Given the description of an element on the screen output the (x, y) to click on. 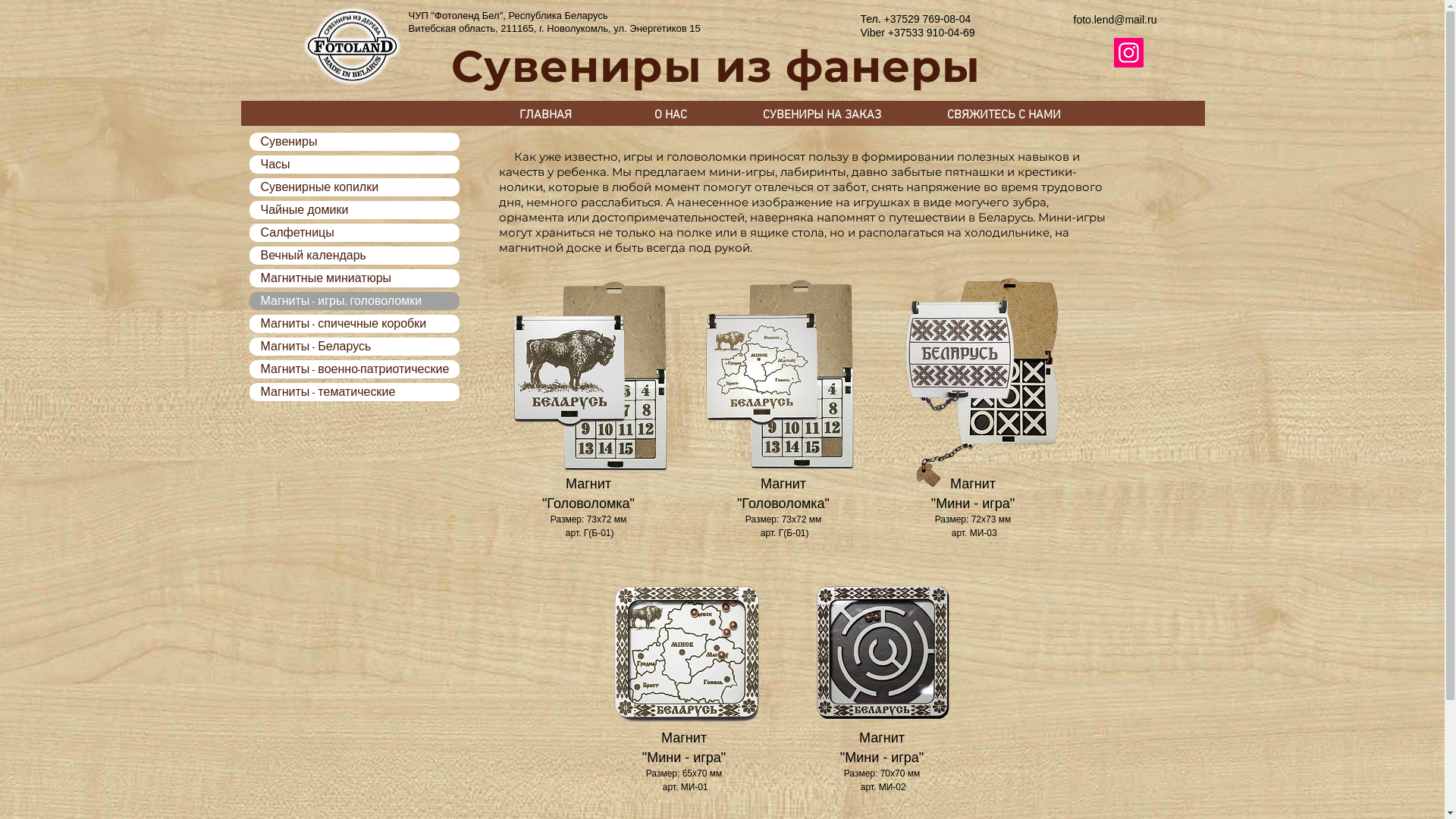
foto.lend@mail.ru Element type: text (1115, 19)
